Given the description of an element on the screen output the (x, y) to click on. 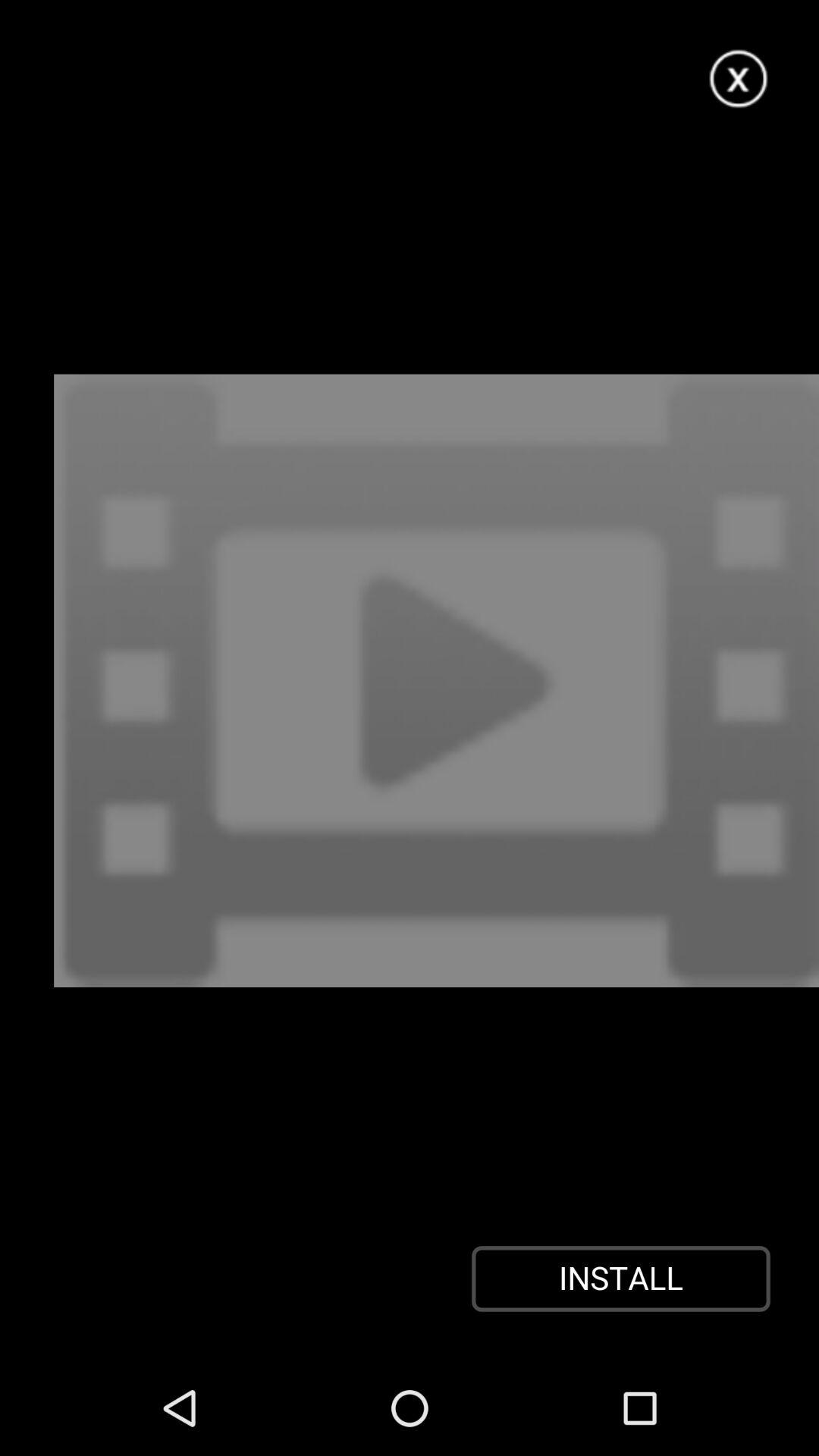
close (739, 79)
